Given the description of an element on the screen output the (x, y) to click on. 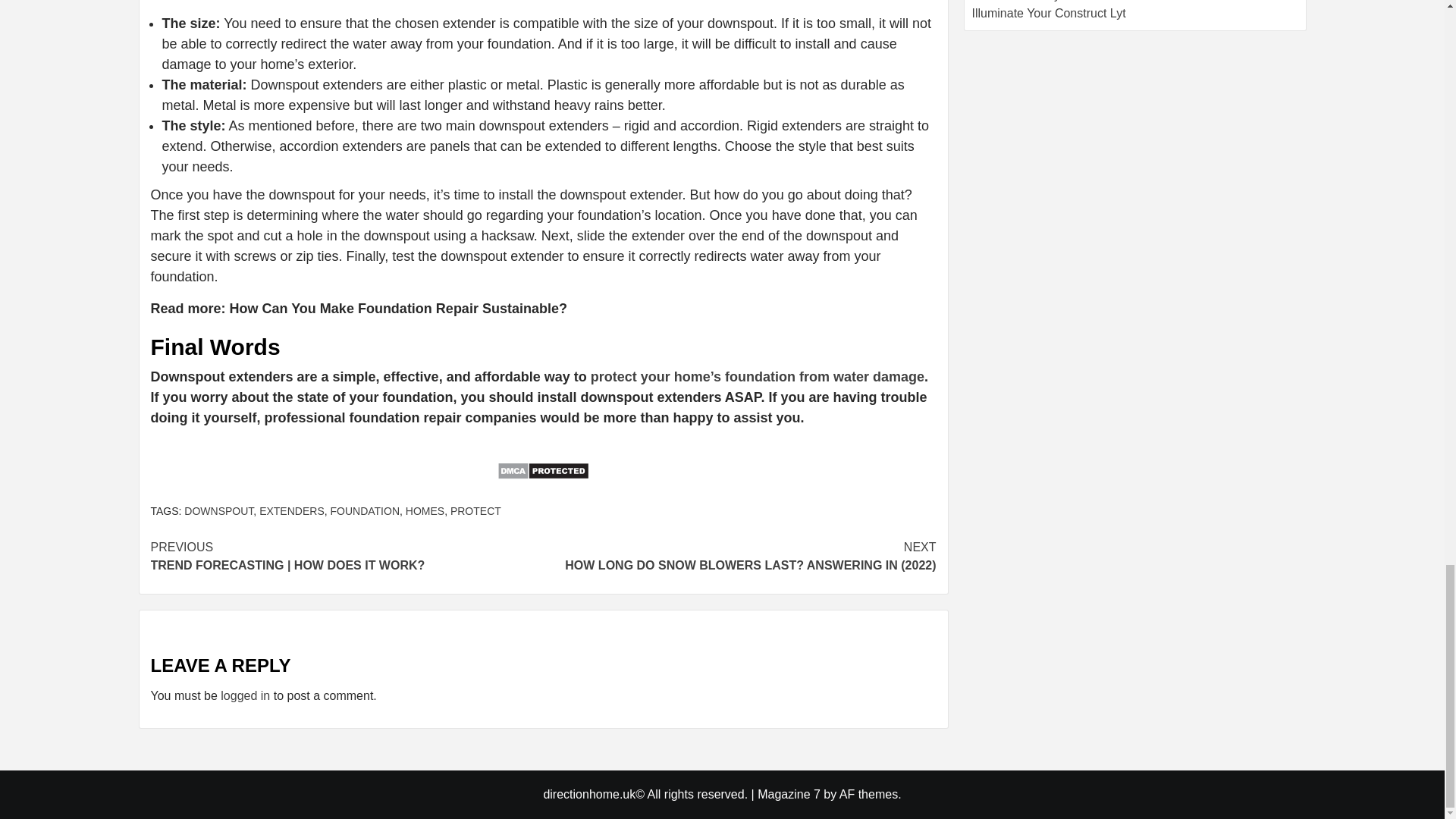
EXTENDERS (291, 510)
DMCA.com Protection Status (543, 479)
PROTECT (474, 510)
logged in (245, 695)
FOUNDATION (365, 510)
HOMES (425, 510)
DOWNSPOUT (218, 510)
